Given the description of an element on the screen output the (x, y) to click on. 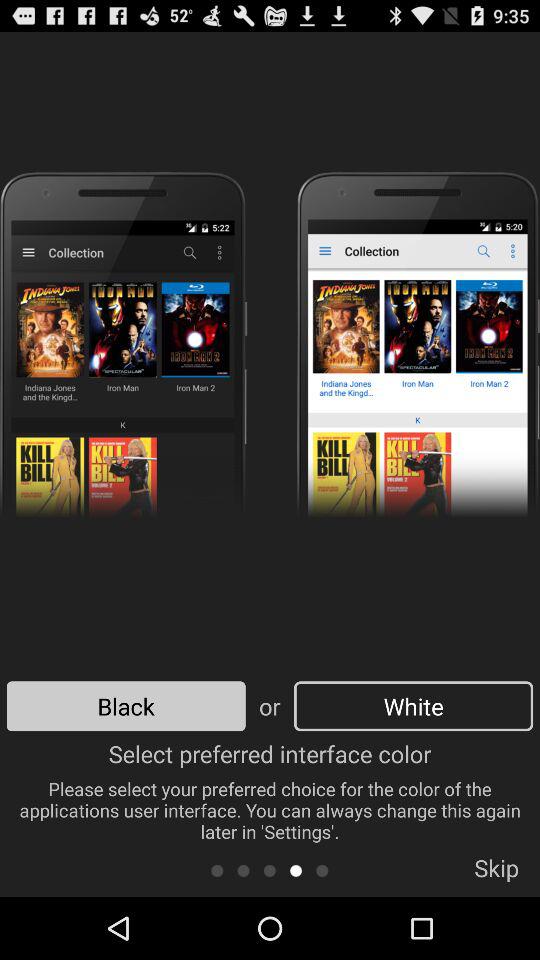
select item below the select preferred interface icon (269, 870)
